Given the description of an element on the screen output the (x, y) to click on. 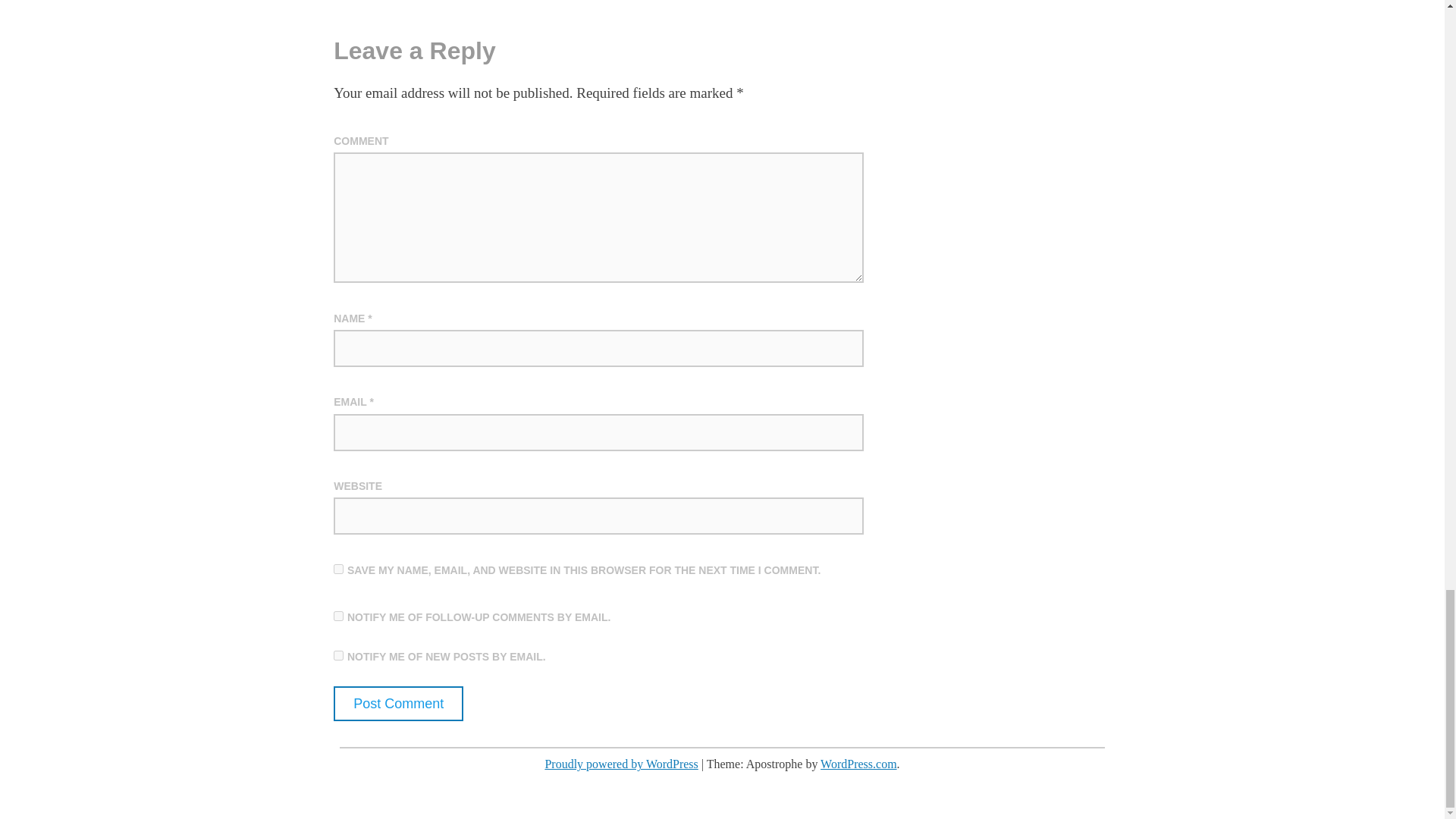
subscribe (338, 615)
yes (338, 569)
Post Comment (398, 703)
subscribe (338, 655)
